Given the description of an element on the screen output the (x, y) to click on. 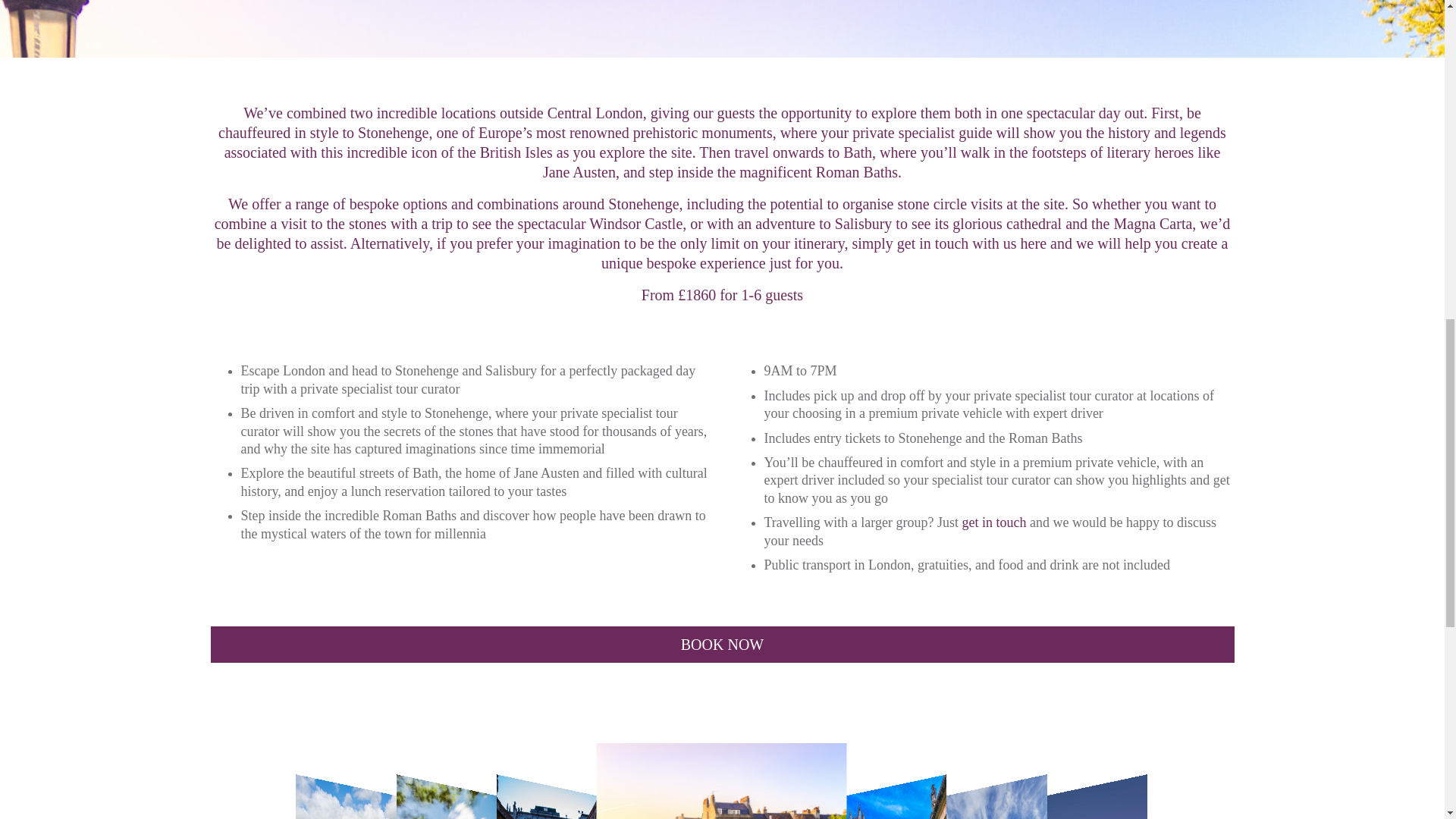
get in touch (993, 522)
BOOK NOW (722, 644)
